Given the description of an element on the screen output the (x, y) to click on. 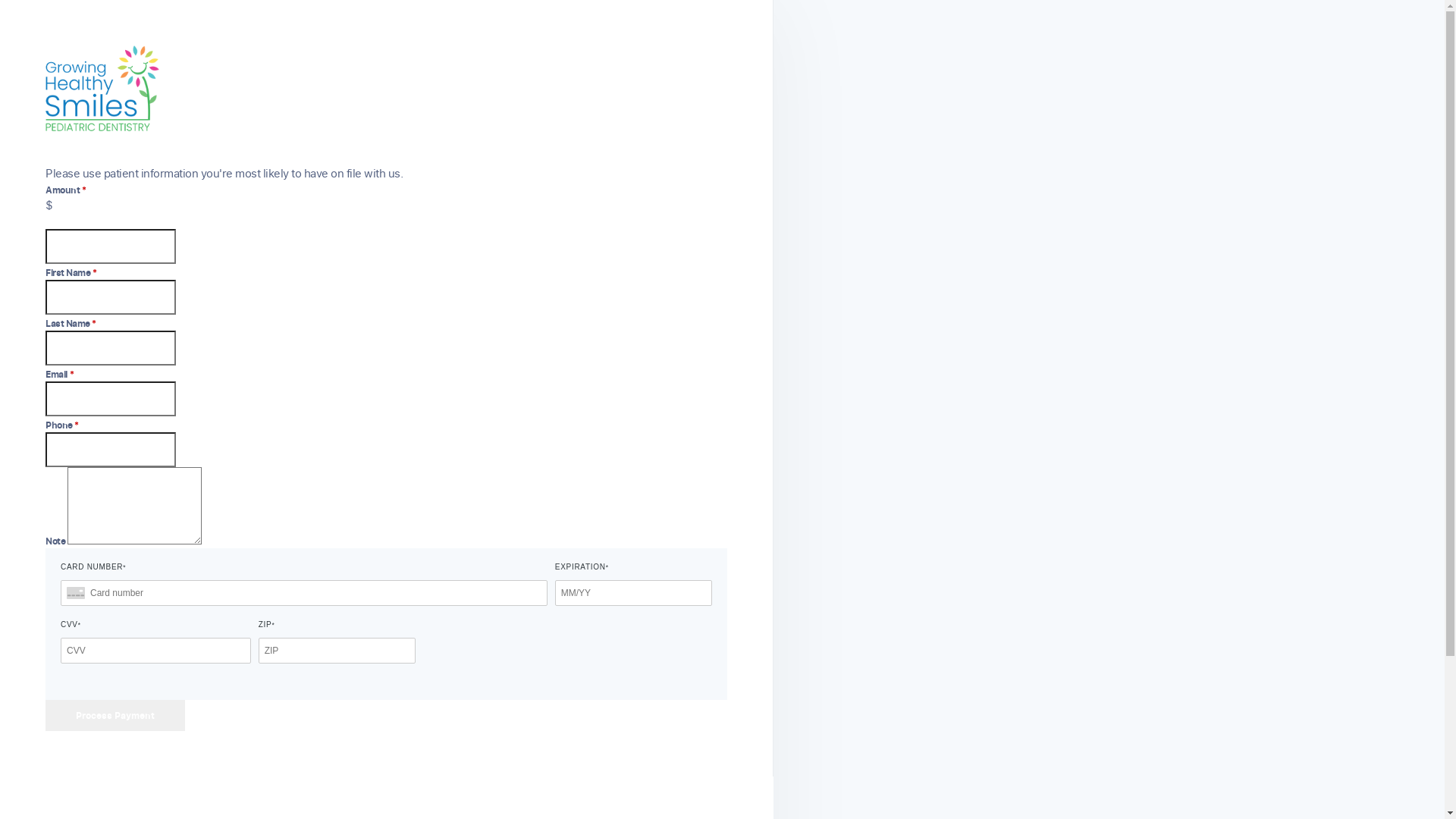
Process Payment Element type: text (115, 714)
